Given the description of an element on the screen output the (x, y) to click on. 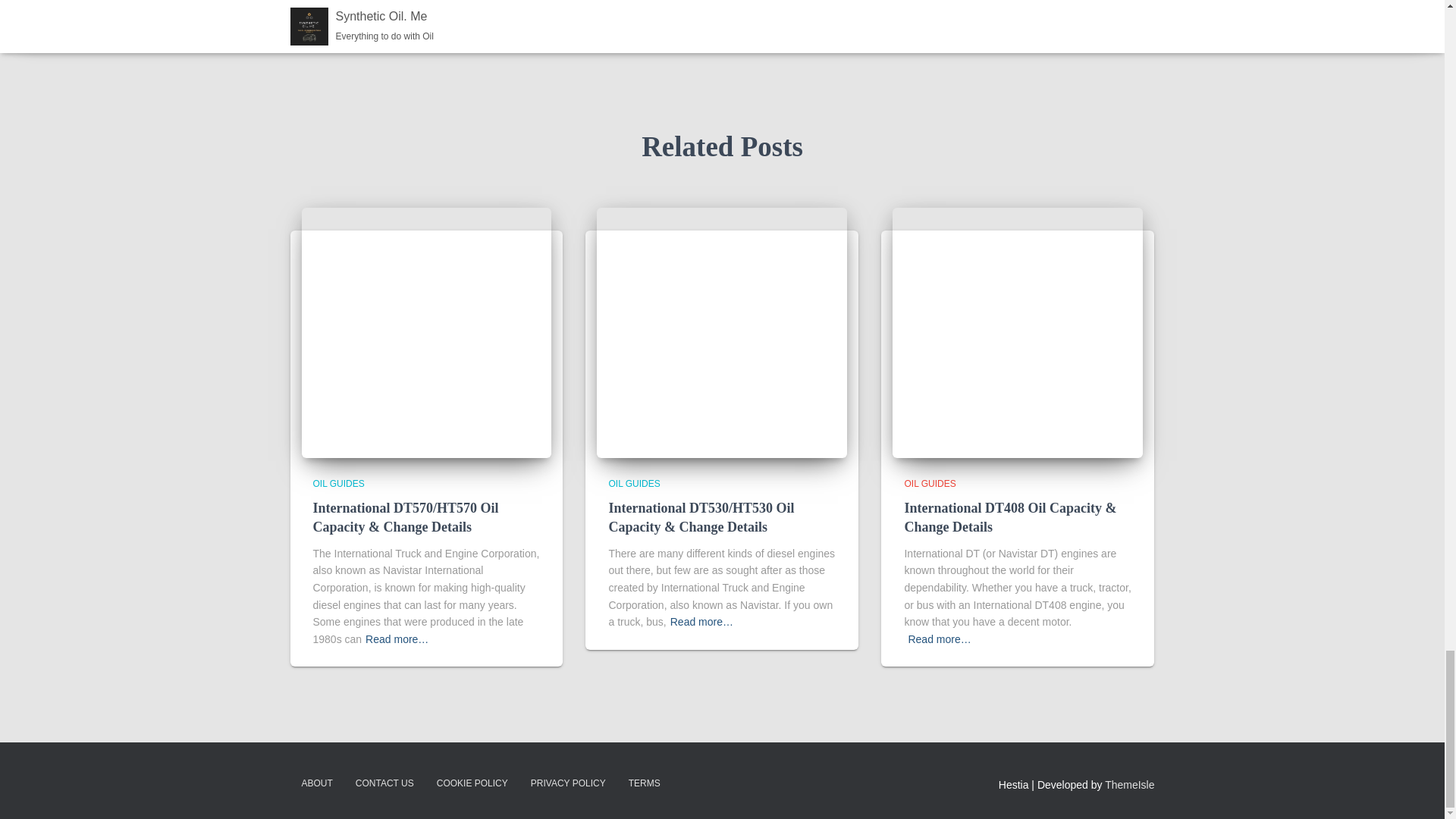
COOKIE POLICY (472, 783)
View all posts in Oil Guides (633, 483)
View all posts in Oil Guides (338, 483)
CONTACT US (384, 783)
ABOUT (316, 783)
TERMS (644, 783)
ThemeIsle (1129, 784)
OIL GUIDES (633, 483)
OIL GUIDES (929, 483)
View all posts in Oil Guides (929, 483)
